Given the description of an element on the screen output the (x, y) to click on. 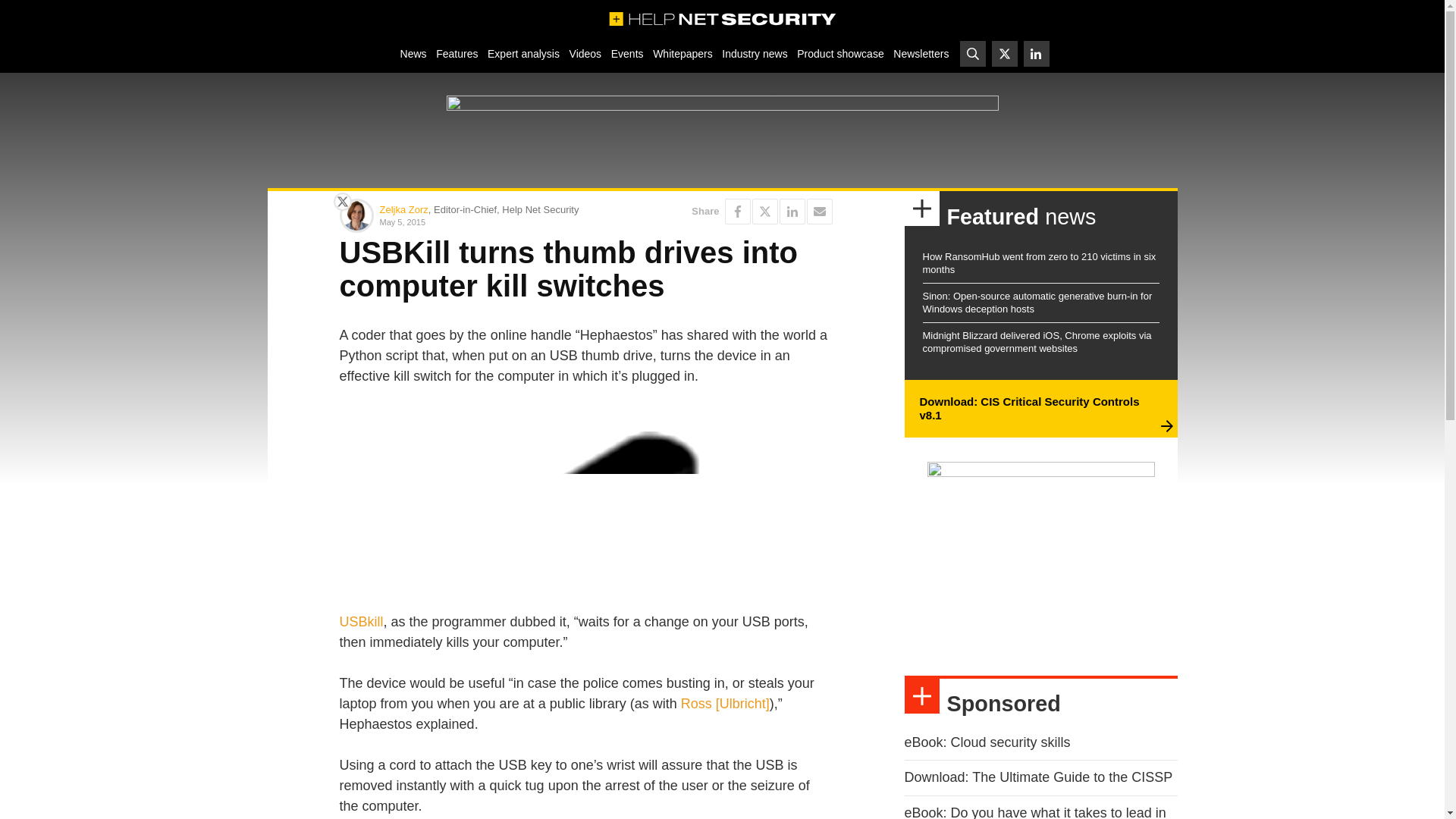
Whitepapers (682, 53)
Download: The Ultimate Guide to the CISSP (1038, 776)
May 5, 2015 (478, 221)
Product showcase (840, 53)
USBkill (361, 621)
Features (456, 53)
eBook: Cloud security skills (987, 742)
Events (626, 53)
